Given the description of an element on the screen output the (x, y) to click on. 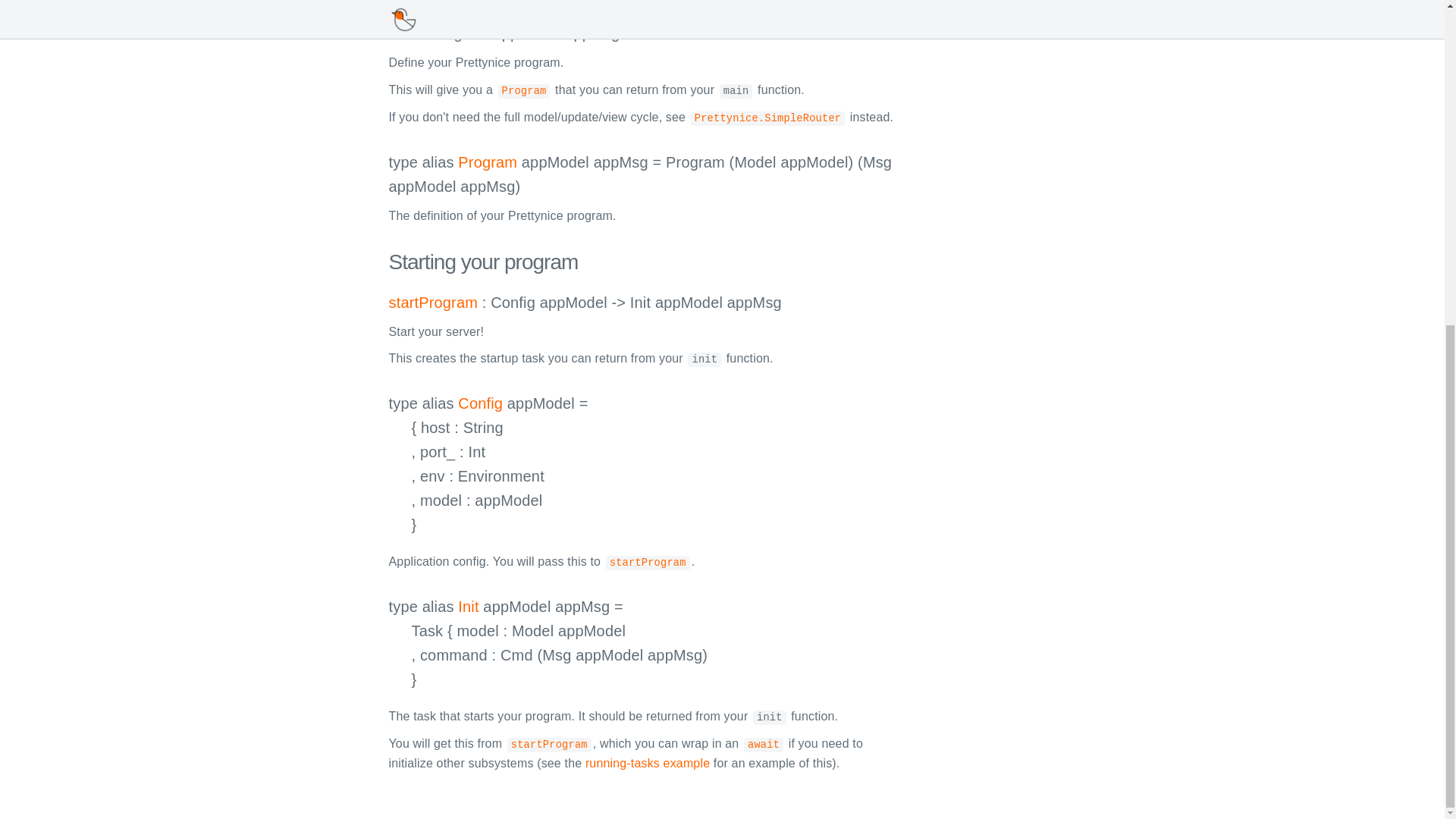
startProgram (548, 743)
startProgram (647, 561)
Init (468, 606)
Config (480, 402)
await (763, 743)
Program (523, 89)
running-tasks example (647, 762)
Prettynice.SimpleRouter (766, 116)
startProgram (432, 302)
Program (487, 161)
